Given the description of an element on the screen output the (x, y) to click on. 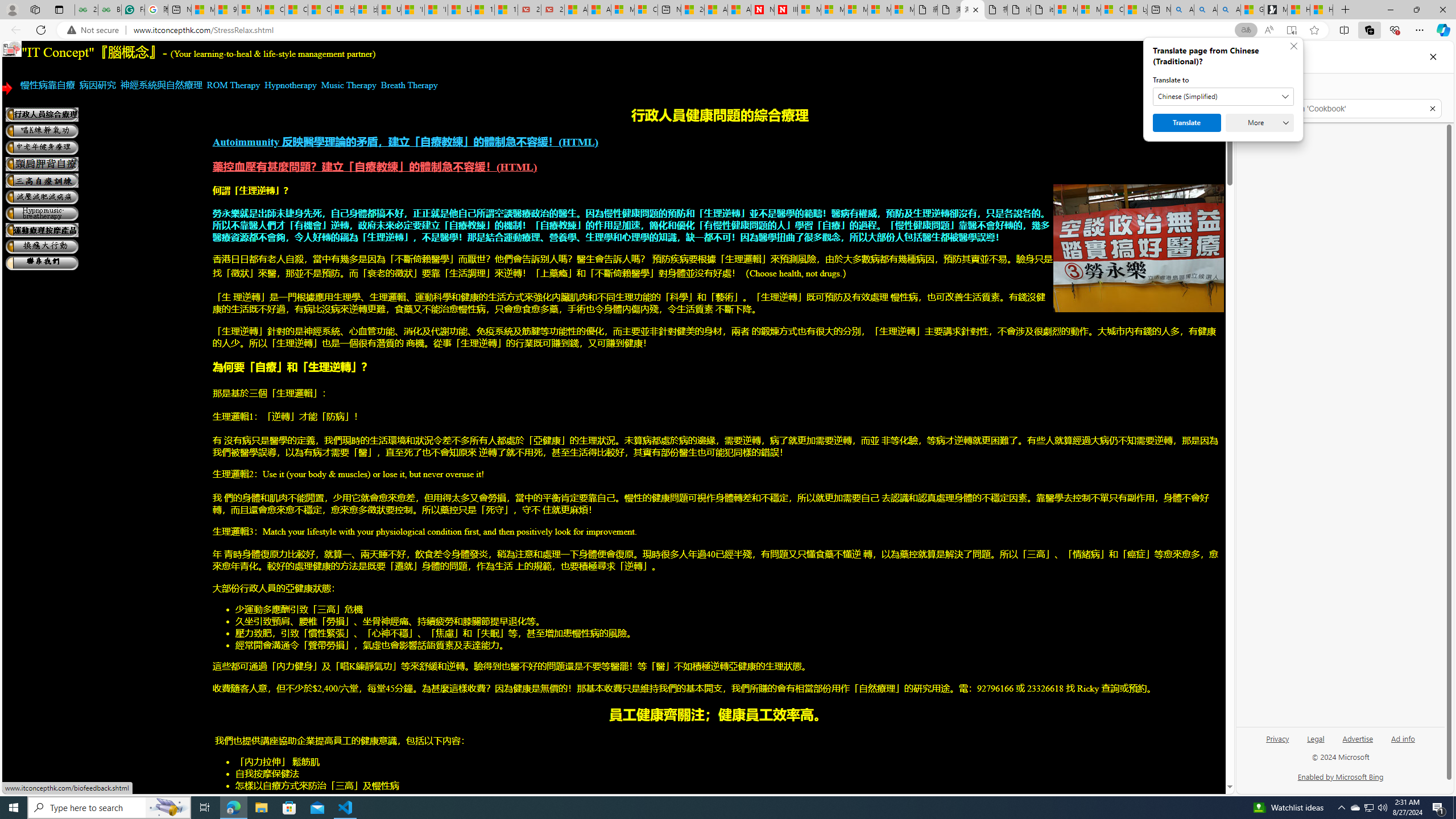
How to Use a TV as a Computer Monitor (1321, 9)
Alabama high school quarterback dies - Search Videos (1228, 9)
Free AI Writing Assistance for Students | Grammarly (132, 9)
